Given the description of an element on the screen output the (x, y) to click on. 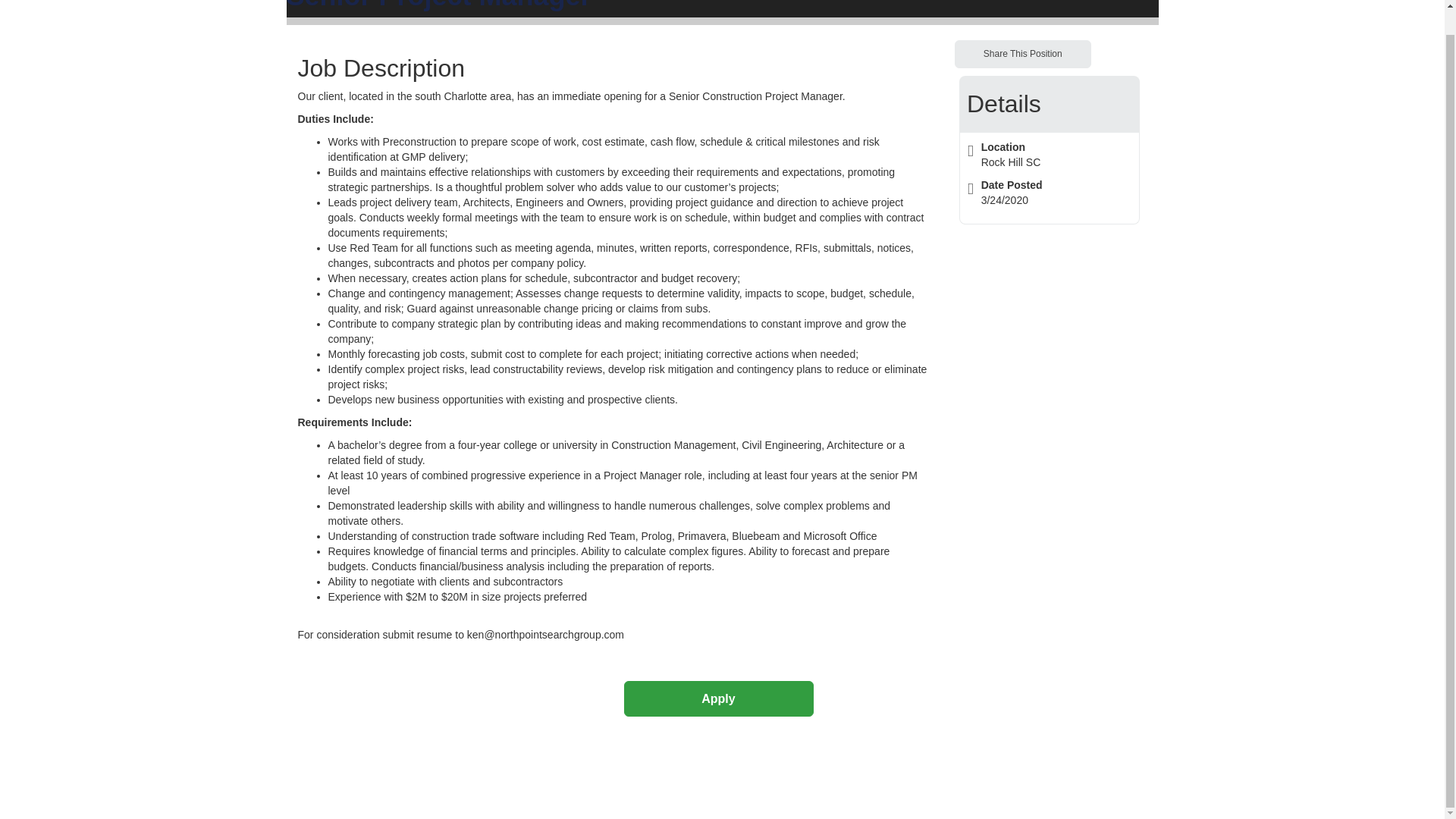
Apply (717, 698)
Share This Position (1022, 53)
